Given the description of an element on the screen output the (x, y) to click on. 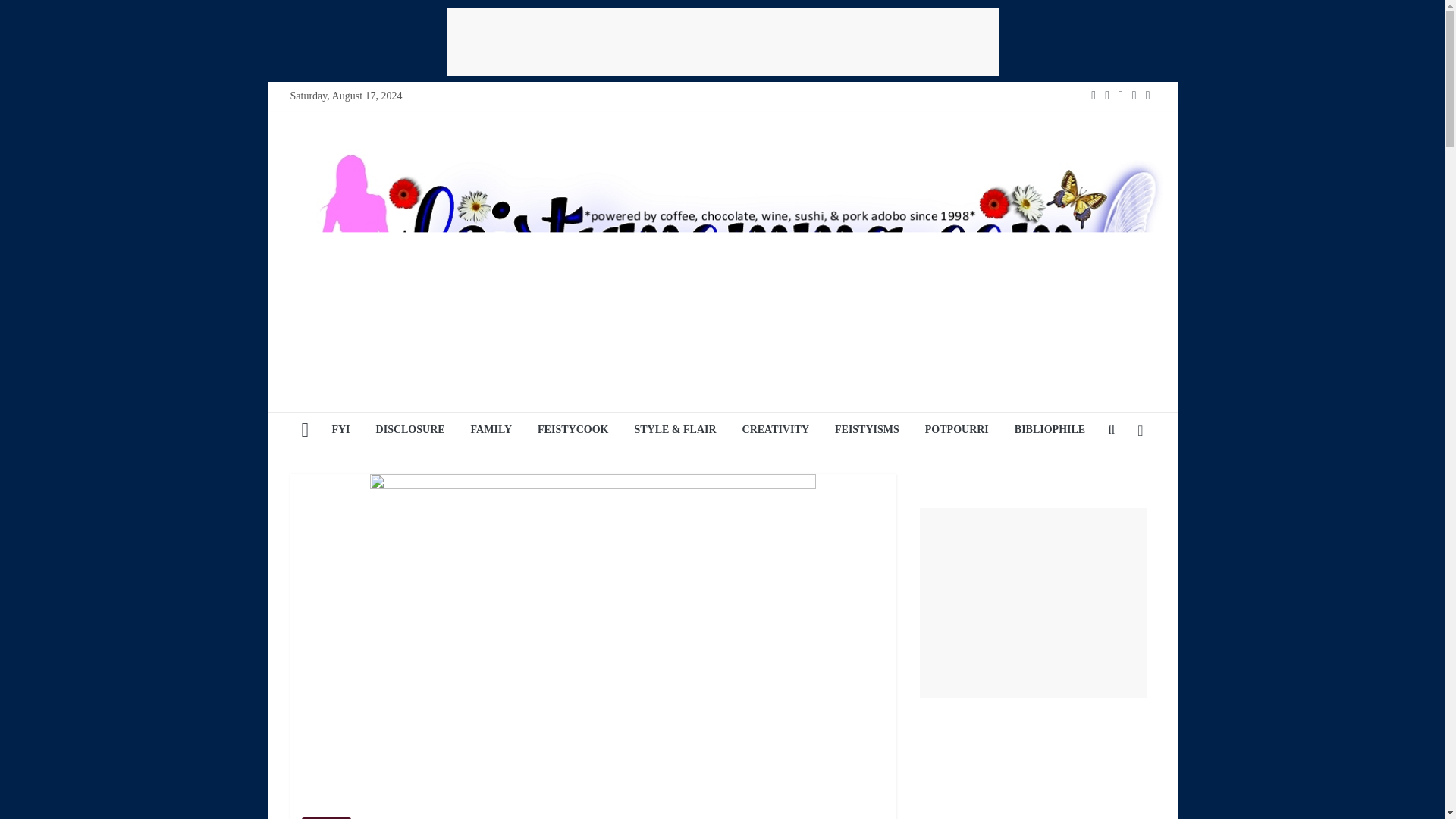
CREATIVITY (775, 430)
POTPOURRI (957, 430)
FEISTYCOOK (572, 430)
Potpourri (325, 818)
DISCLOSURE (411, 430)
FYI (340, 430)
FEISTYISMS (867, 430)
BIBLIOPHILE (1049, 430)
FAMILY (491, 430)
